Given the description of an element on the screen output the (x, y) to click on. 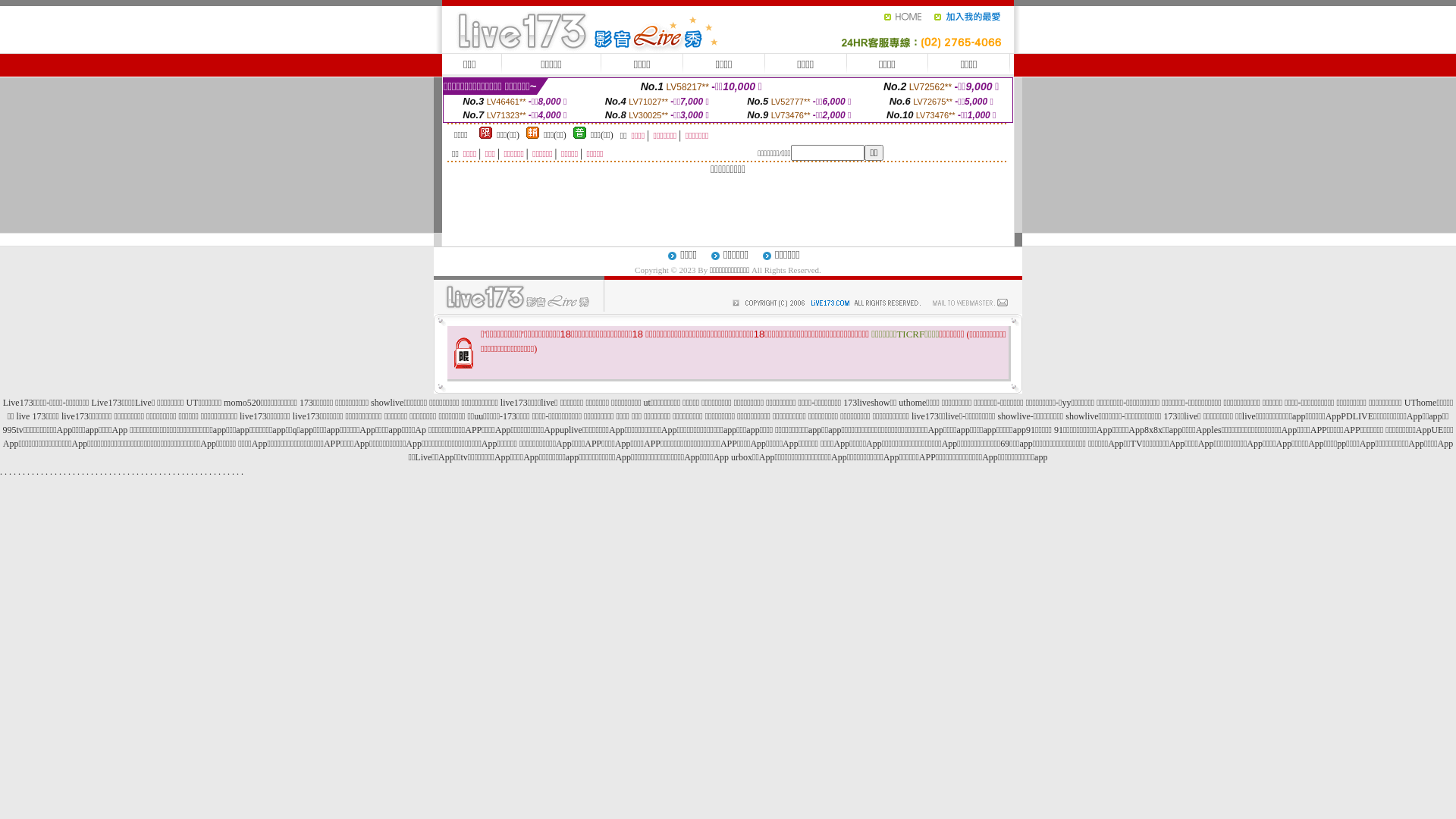
. Element type: text (132, 471)
. Element type: text (10, 471)
. Element type: text (164, 471)
. Element type: text (60, 471)
. Element type: text (51, 471)
. Element type: text (214, 471)
. Element type: text (101, 471)
. Element type: text (123, 471)
. Element type: text (128, 471)
. Element type: text (196, 471)
. Element type: text (28, 471)
. Element type: text (223, 471)
. Element type: text (187, 471)
. Element type: text (14, 471)
. Element type: text (178, 471)
. Element type: text (192, 471)
. Element type: text (32, 471)
. Element type: text (41, 471)
. Element type: text (242, 471)
. Element type: text (173, 471)
. Element type: text (64, 471)
. Element type: text (160, 471)
. Element type: text (169, 471)
. Element type: text (151, 471)
. Element type: text (219, 471)
. Element type: text (19, 471)
. Element type: text (233, 471)
. Element type: text (114, 471)
. Element type: text (205, 471)
. Element type: text (119, 471)
. Element type: text (110, 471)
. Element type: text (92, 471)
. Element type: text (155, 471)
. Element type: text (23, 471)
. Element type: text (37, 471)
. Element type: text (183, 471)
. Element type: text (46, 471)
. Element type: text (228, 471)
. Element type: text (87, 471)
. Element type: text (96, 471)
. Element type: text (69, 471)
. Element type: text (1, 471)
. Element type: text (82, 471)
. Element type: text (137, 471)
. Element type: text (142, 471)
. Element type: text (237, 471)
. Element type: text (5, 471)
. Element type: text (78, 471)
. Element type: text (201, 471)
. Element type: text (73, 471)
. Element type: text (55, 471)
. Element type: text (105, 471)
. Element type: text (146, 471)
. Element type: text (210, 471)
